Given the description of an element on the screen output the (x, y) to click on. 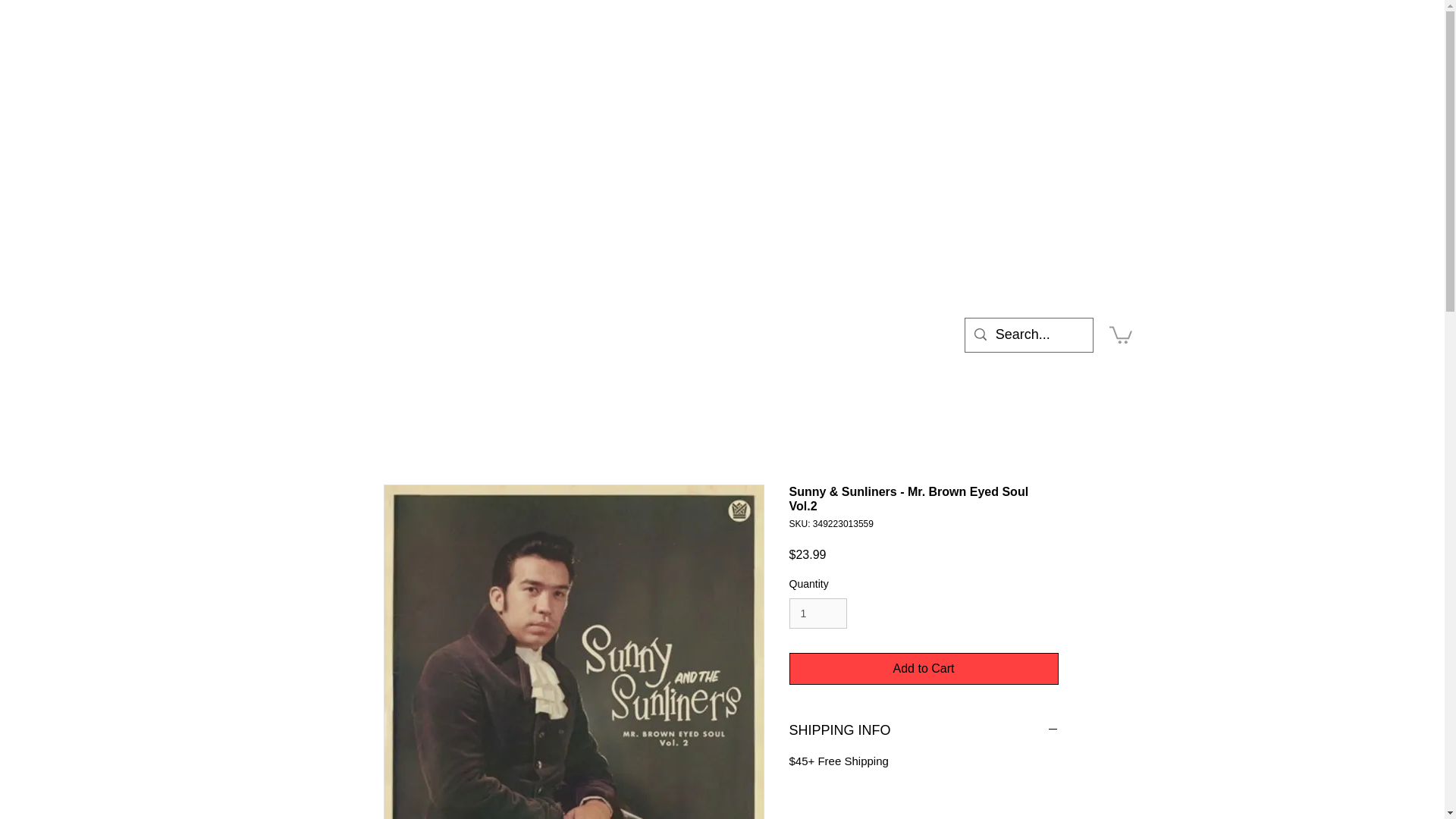
SHIPPING INFO (923, 730)
1 (817, 613)
Add to Cart (923, 668)
